Given the description of an element on the screen output the (x, y) to click on. 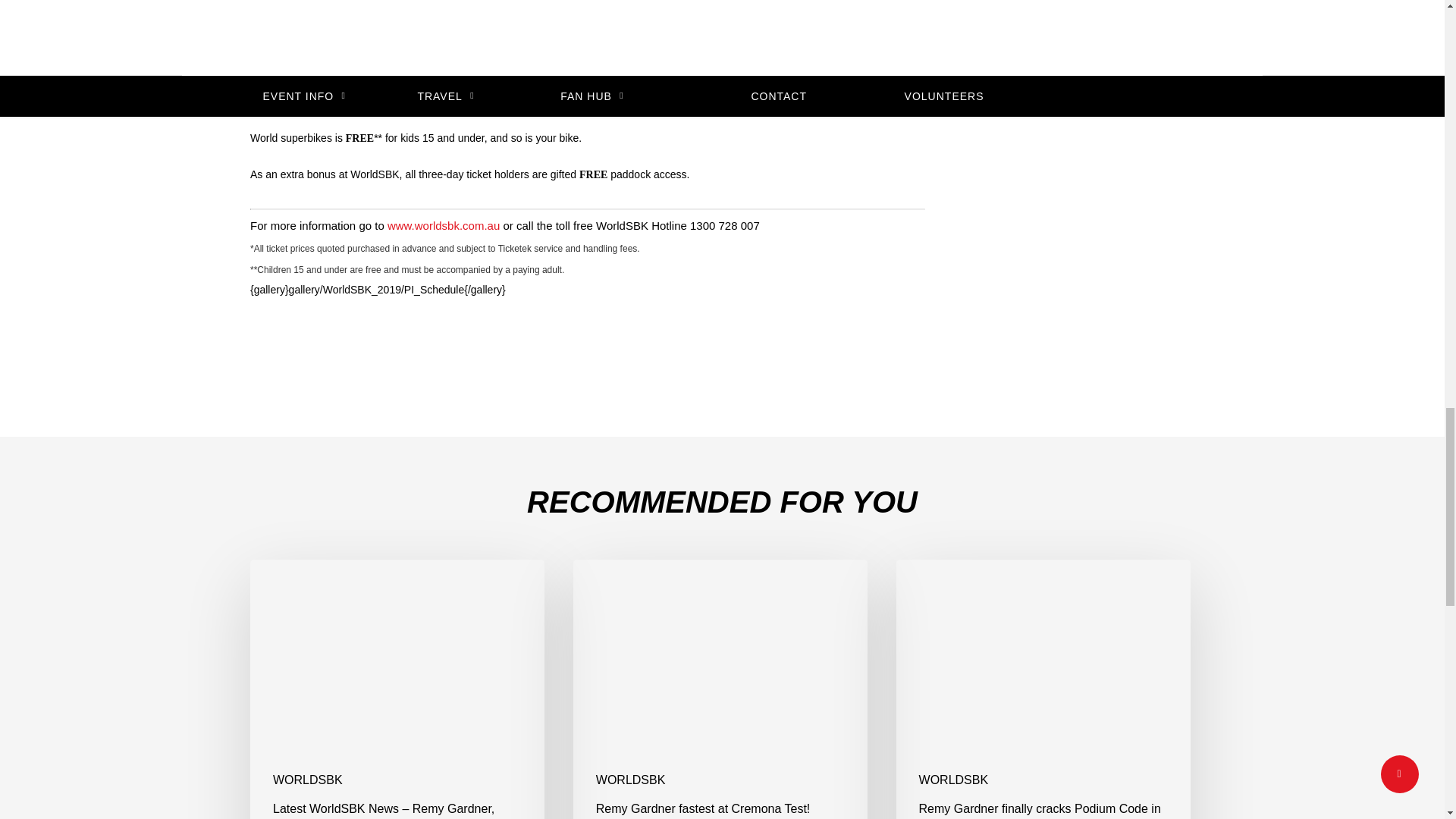
WORLDSBK (630, 779)
Remy Gardner fastest at Cremona Test! (720, 689)
Remy Gardner finally cracks Podium Code in Assen! (1043, 689)
www.worldsbk.com.au (443, 225)
WORLDSBK (307, 779)
WORLDSBK (953, 779)
